Given the description of an element on the screen output the (x, y) to click on. 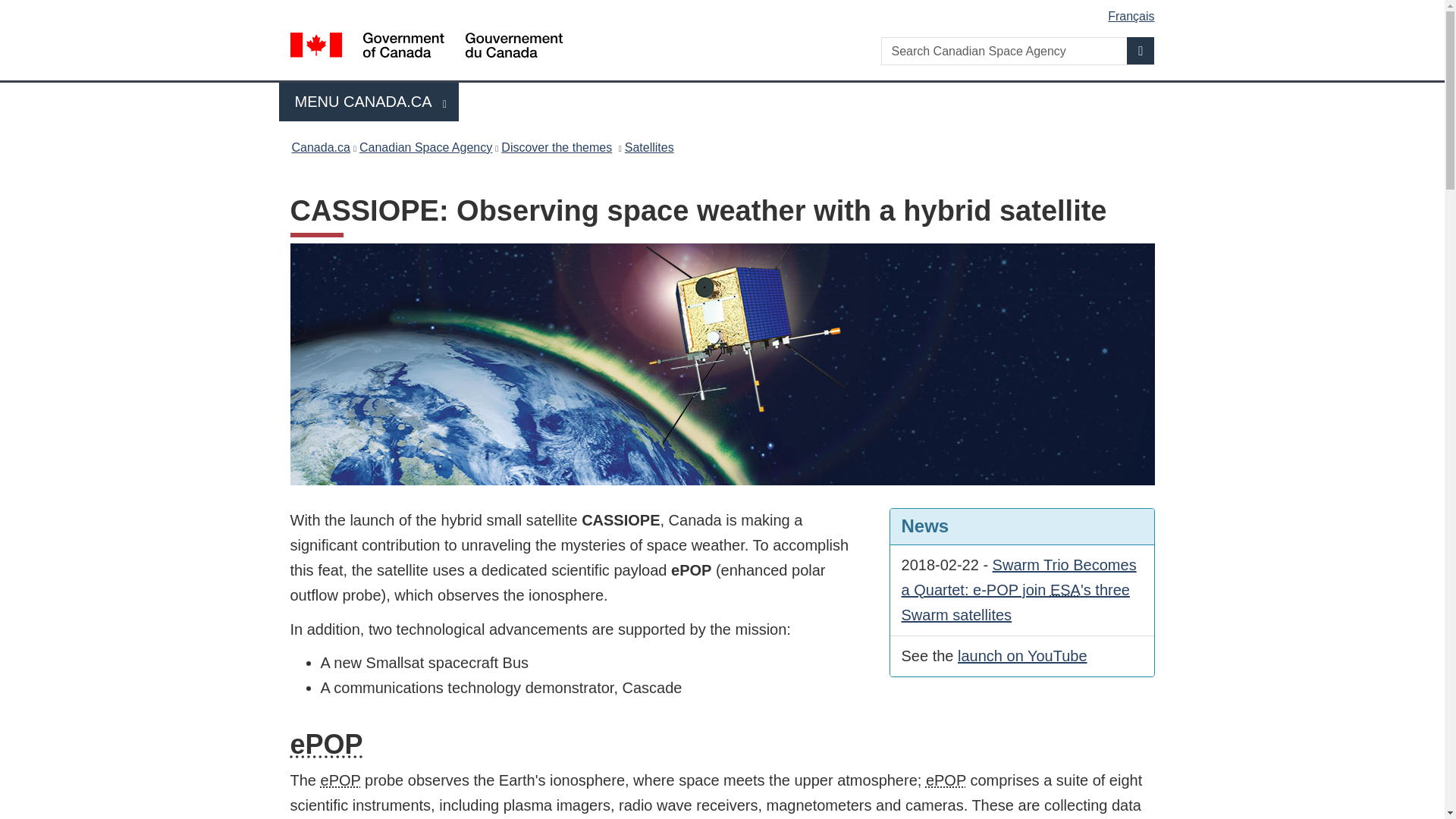
European Space Agency (1064, 589)
Discover the themes (555, 147)
Search (1140, 50)
Skip to main content (725, 11)
enhanced Polar Outflow Probe (946, 780)
launch on YouTube (1022, 655)
Satellites (649, 147)
Canadian Space Agency (369, 101)
